Given the description of an element on the screen output the (x, y) to click on. 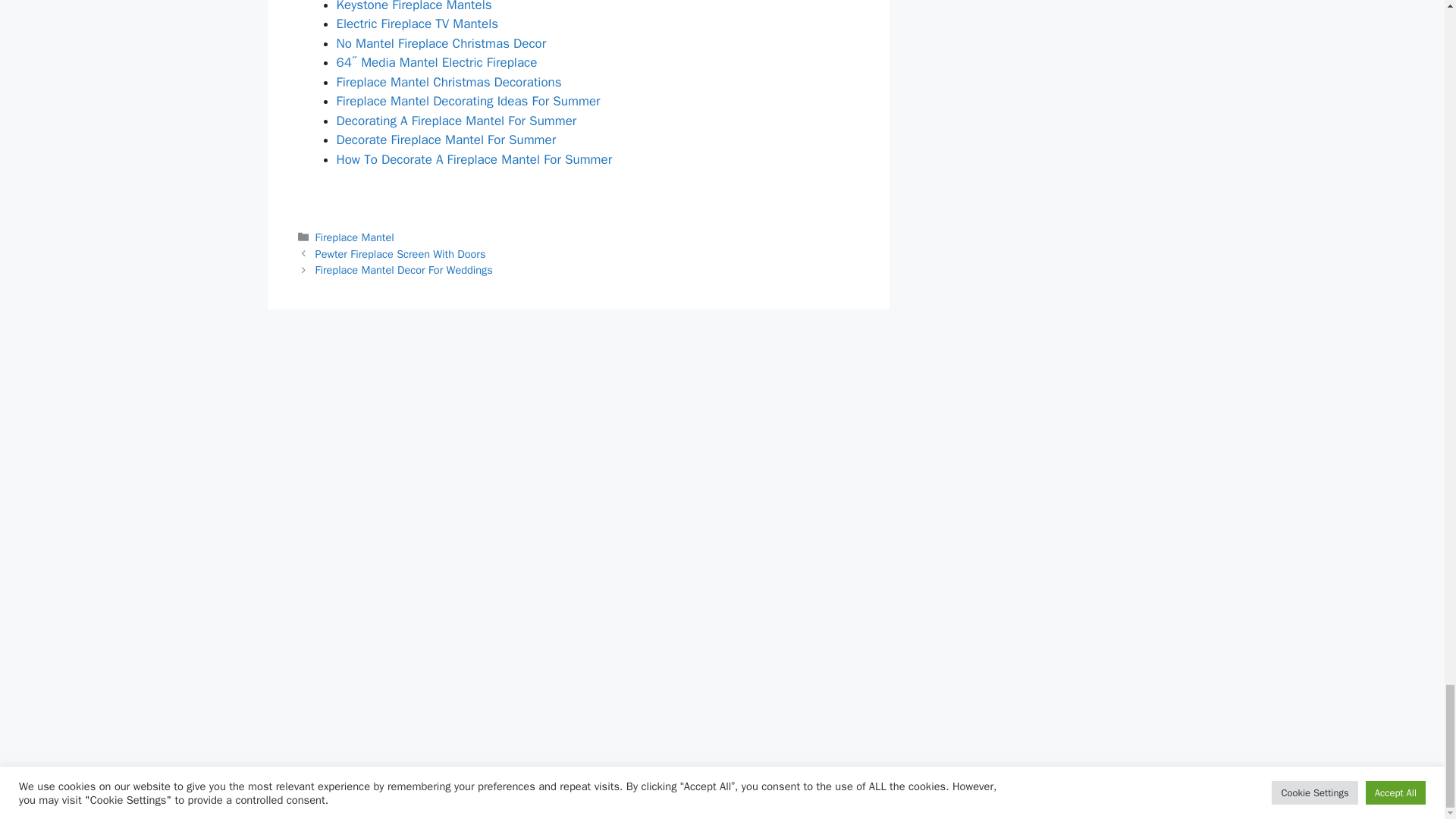
Pewter Fireplace Screen With Doors (400, 254)
Keystone Fireplace Mantels (414, 6)
Decorating A Fireplace Mantel For Summer (456, 120)
Fireplace Mantel (354, 237)
Fireplace Mantel Christmas Decorations (449, 82)
How To Decorate A Fireplace Mantel For Summer (474, 159)
Fireplace Mantel Decorating Ideas For Summer (467, 100)
Decorate Fireplace Mantel For Summer (446, 139)
Electric Fireplace TV Mantels (417, 23)
No Mantel Fireplace Christmas Decor (441, 43)
